Given the description of an element on the screen output the (x, y) to click on. 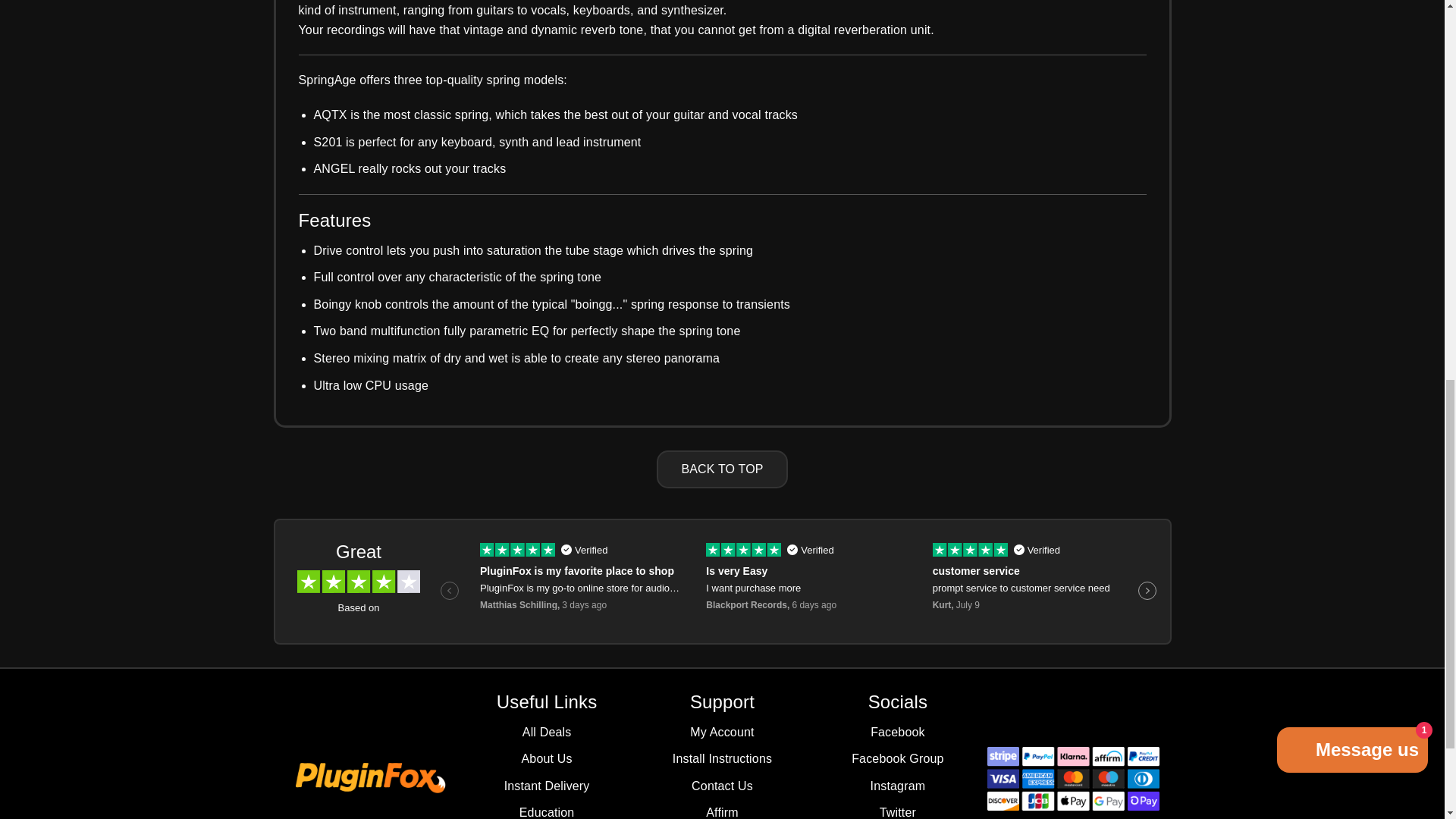
Customer reviews powered by Trustpilot (721, 580)
Back to top (721, 469)
